Given the description of an element on the screen output the (x, y) to click on. 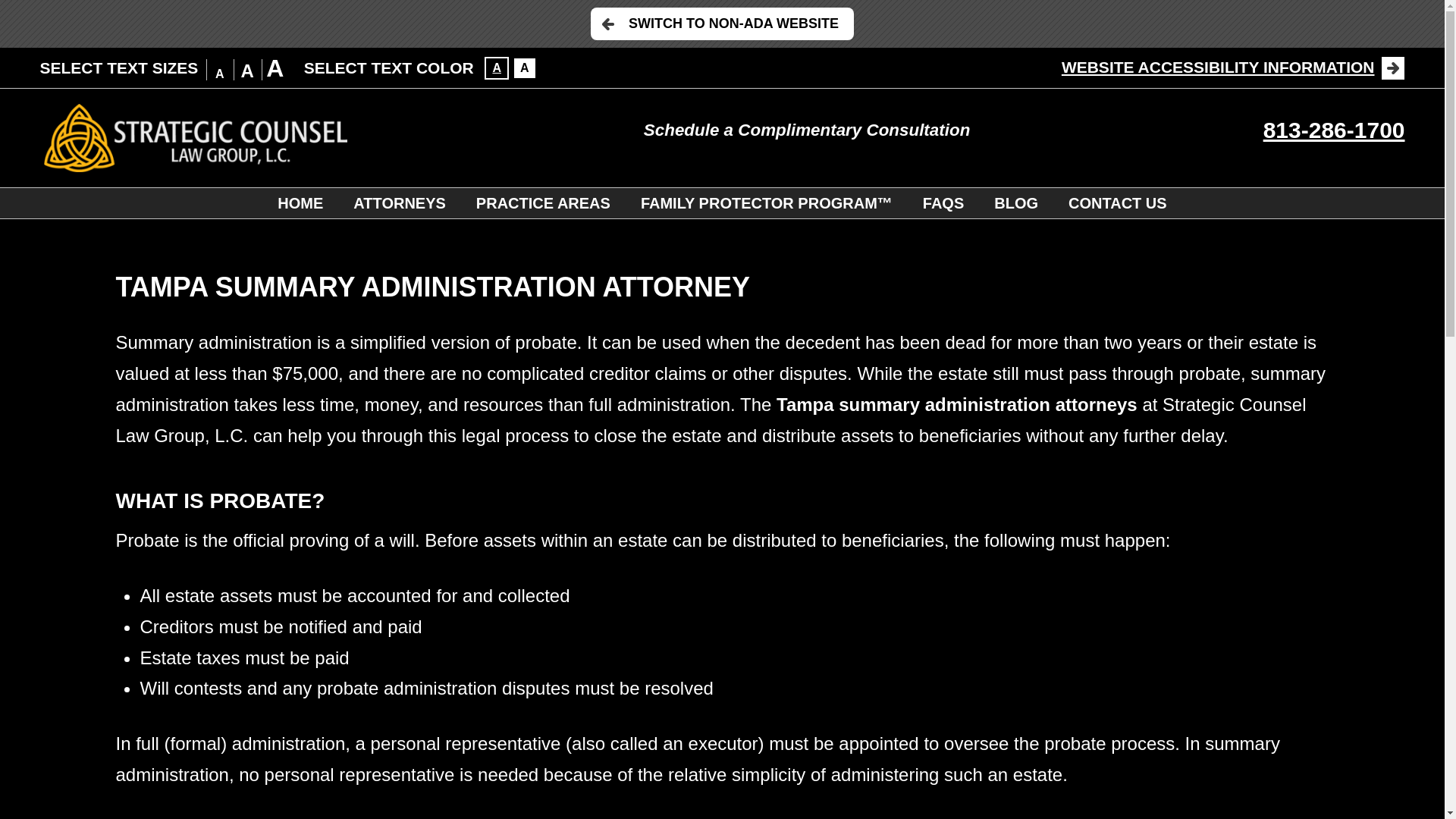
813-286-1700 (1334, 129)
A (496, 67)
SWITCH TO NON-ADA WEBSITE (722, 23)
WEBSITE ACCESSIBILITY INFORMATION (1233, 67)
ATTORNEYS (399, 203)
Invert Colors (524, 67)
A (524, 67)
Invert Colors (496, 67)
HOME (299, 203)
PRACTICE AREAS (543, 203)
Click to view external accessibility article (1233, 67)
